Given the description of an element on the screen output the (x, y) to click on. 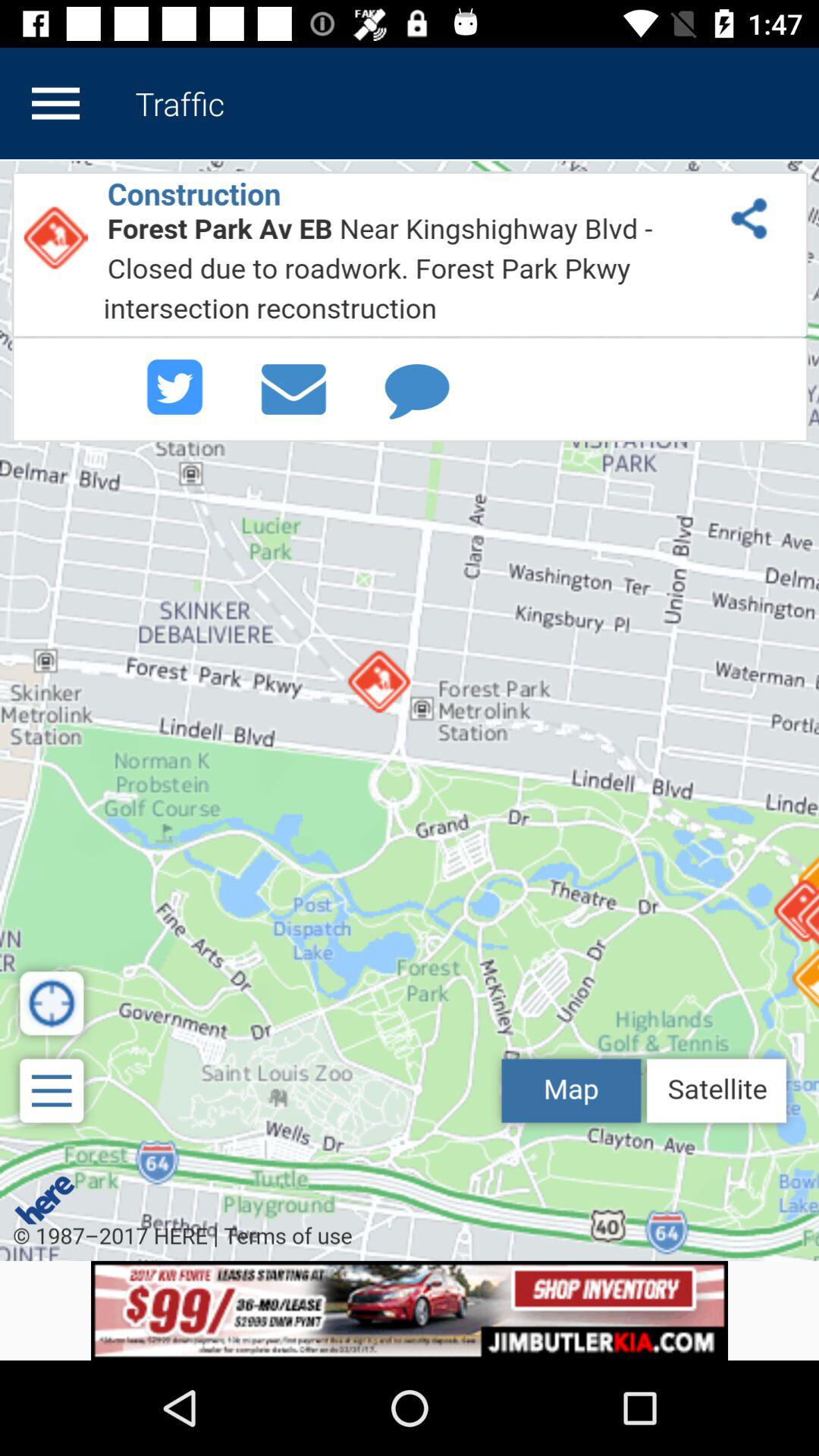
access menu (55, 103)
